Given the description of an element on the screen output the (x, y) to click on. 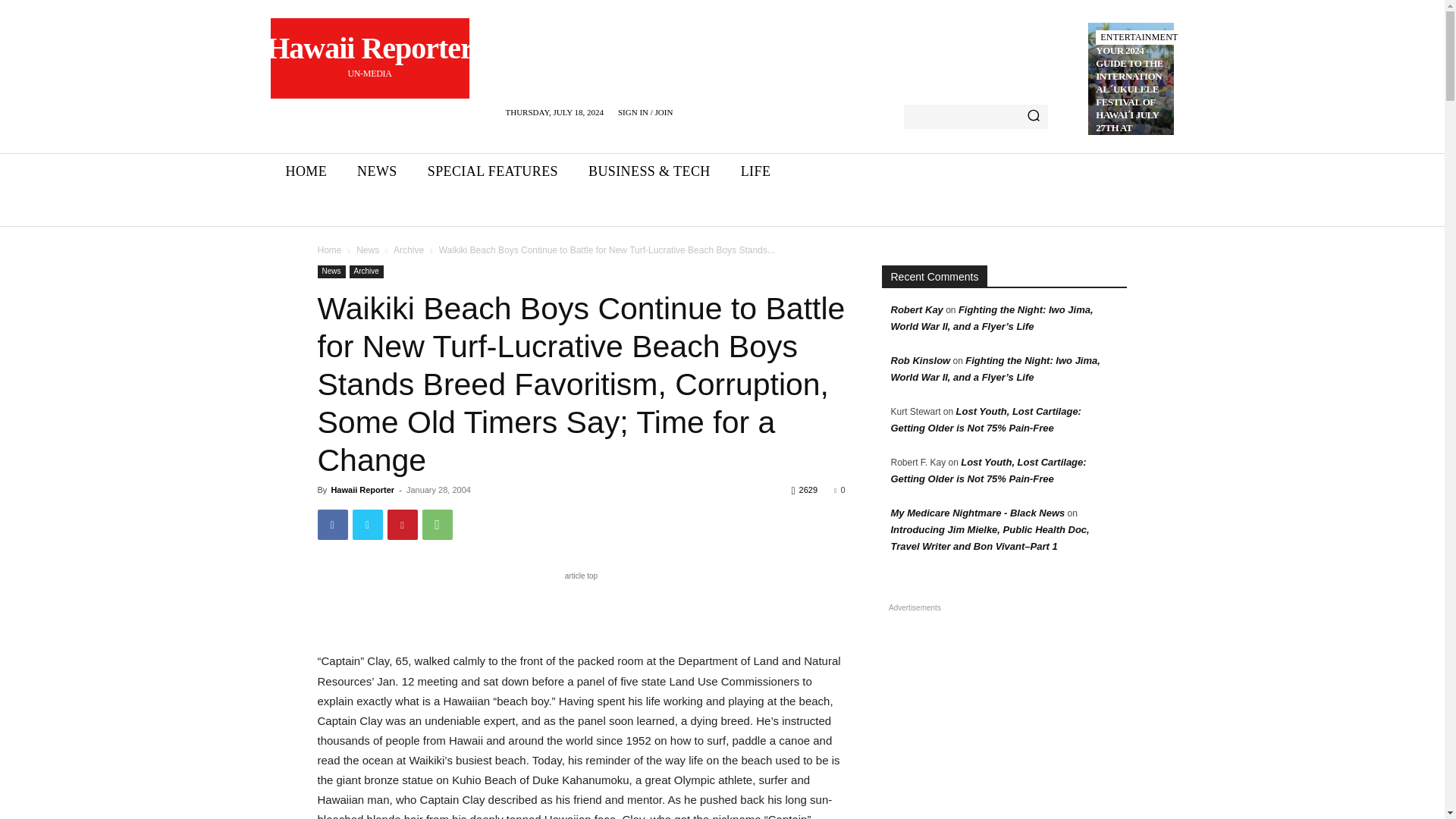
NEWS (377, 171)
SPECIAL FEATURES (368, 58)
ENTERTAINMENT (492, 171)
HOME (1139, 37)
